Given the description of an element on the screen output the (x, y) to click on. 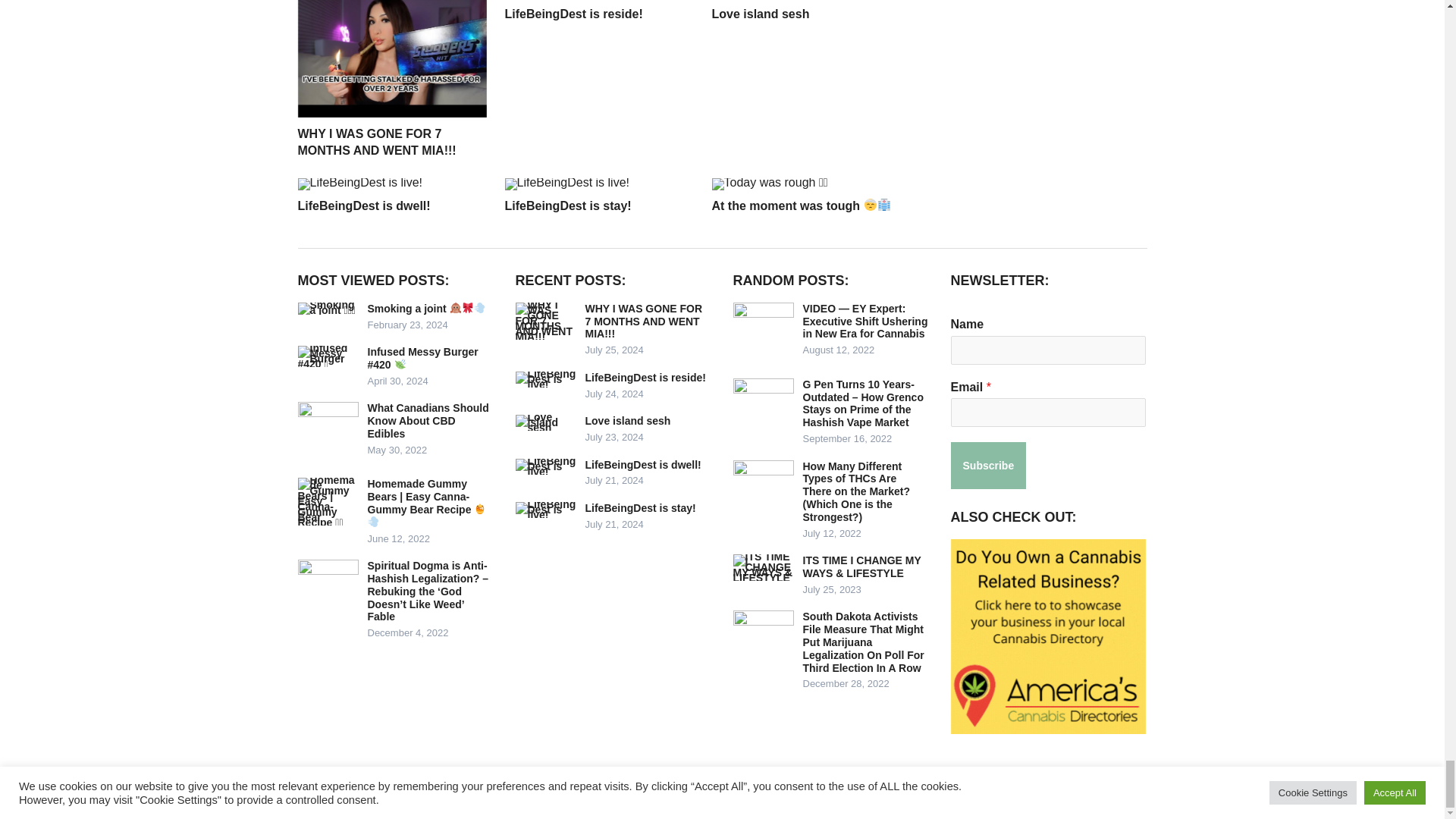
LifeBeingDest is reside! (574, 13)
WHY I WAS GONE FOR 7 MONTHS AND WENT MIA!!! (376, 142)
